Given the description of an element on the screen output the (x, y) to click on. 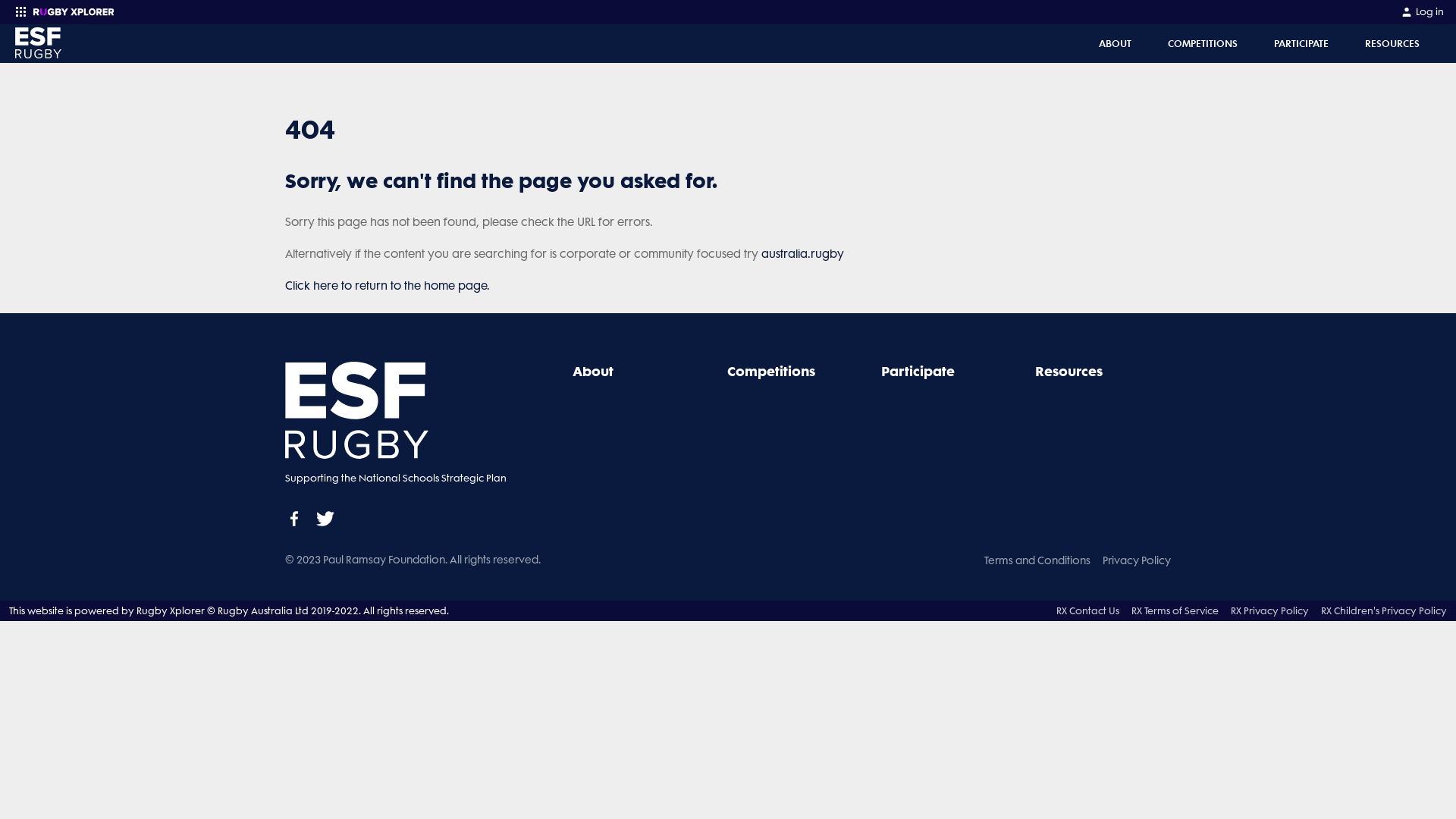
RX Children's Privacy Policy Element type: text (1383, 610)
RESOURCES Element type: text (1391, 43)
My Account Element type: hover (1406, 12)
facebook Element type: hover (294, 518)
twitter Element type: hover (325, 518)
RX Contact Us Element type: text (1087, 610)
Supporting the National Schools Strategic Plan Element type: text (404, 435)
Terms and Conditions Element type: text (1037, 559)
RX Terms of Service Element type: text (1174, 610)
Participate Element type: text (917, 371)
Competitions Element type: text (771, 371)
COMPETITIONS Element type: text (1202, 43)
australia.rugby Element type: text (802, 253)
Click here to return to the home page. Element type: text (387, 285)
About Element type: text (592, 371)
Log in Element type: text (1421, 12)
PARTICIPATE Element type: text (1300, 43)
ABOUT Element type: text (1114, 43)
Resources Element type: text (1068, 371)
RX Privacy Policy Element type: text (1269, 610)
Privacy Policy Element type: text (1136, 559)
